Given the description of an element on the screen output the (x, y) to click on. 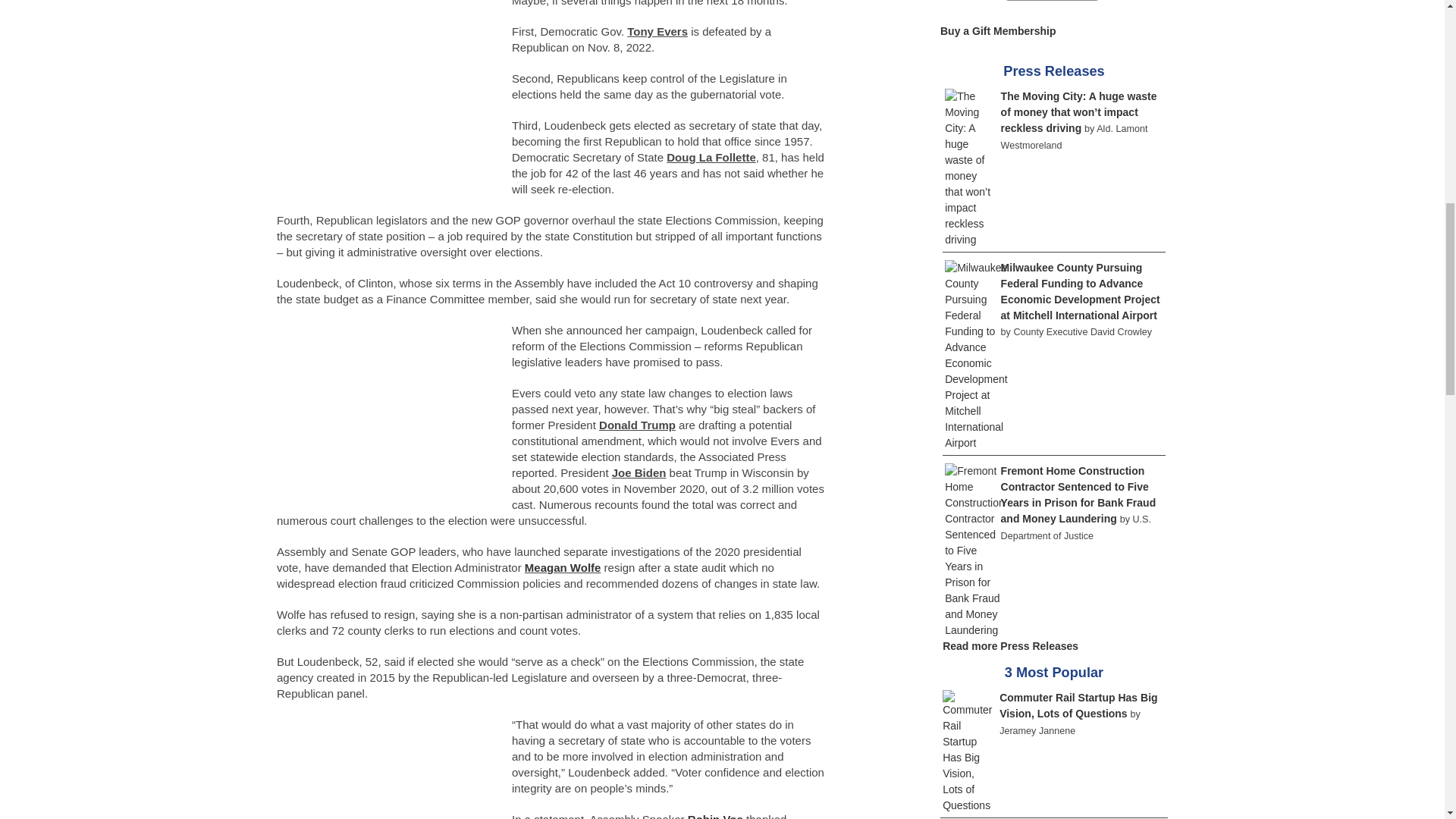
Robin Vos (714, 816)
Joe Biden (638, 472)
Donald Trump (636, 424)
Tony Evers (657, 31)
Meagan Wolfe (562, 567)
Doug La Follette (710, 156)
